Given the description of an element on the screen output the (x, y) to click on. 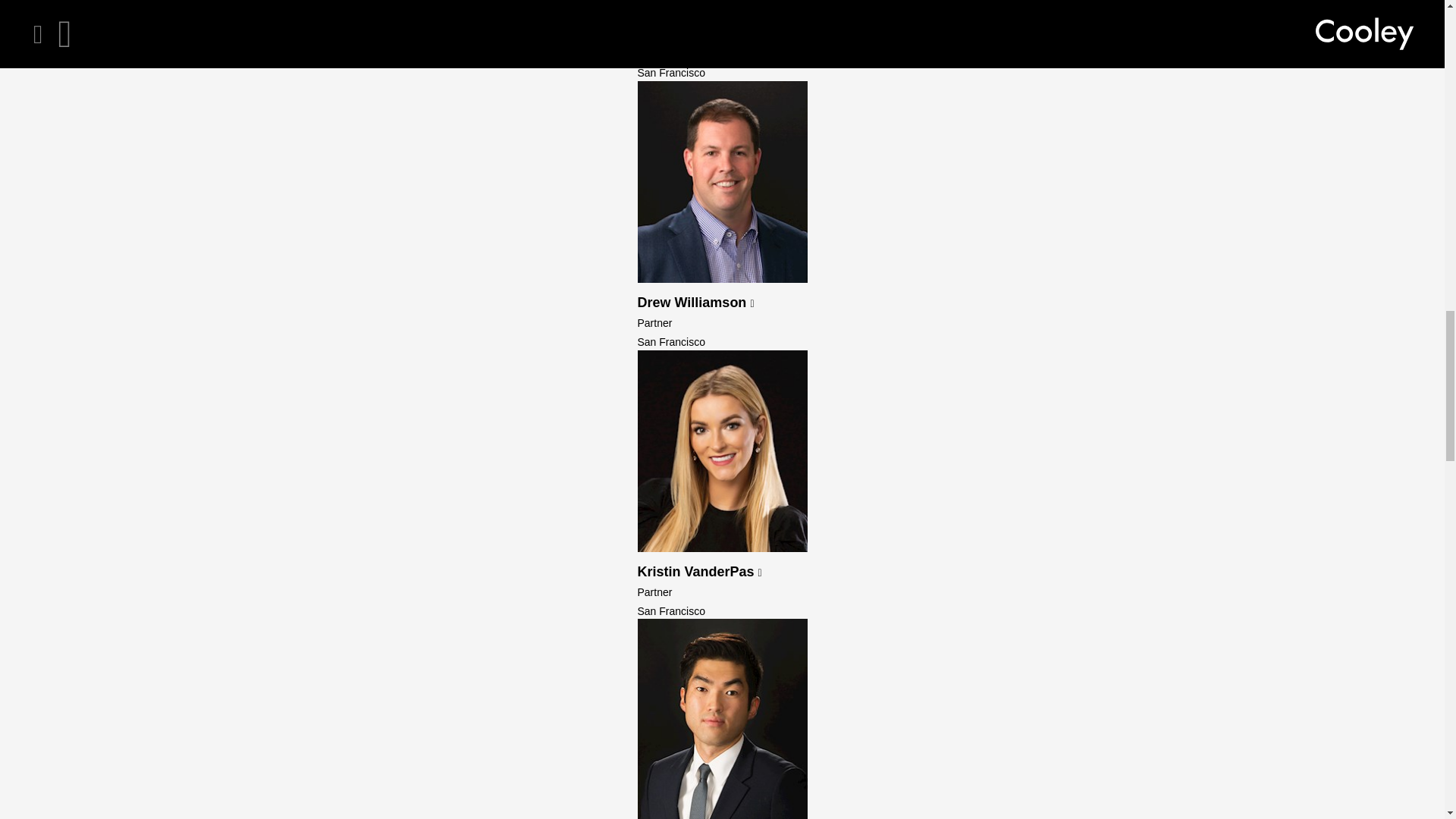
Kristin VanderPas (699, 571)
David Peinsipp (689, 33)
Drew Williamson (695, 302)
